Given the description of an element on the screen output the (x, y) to click on. 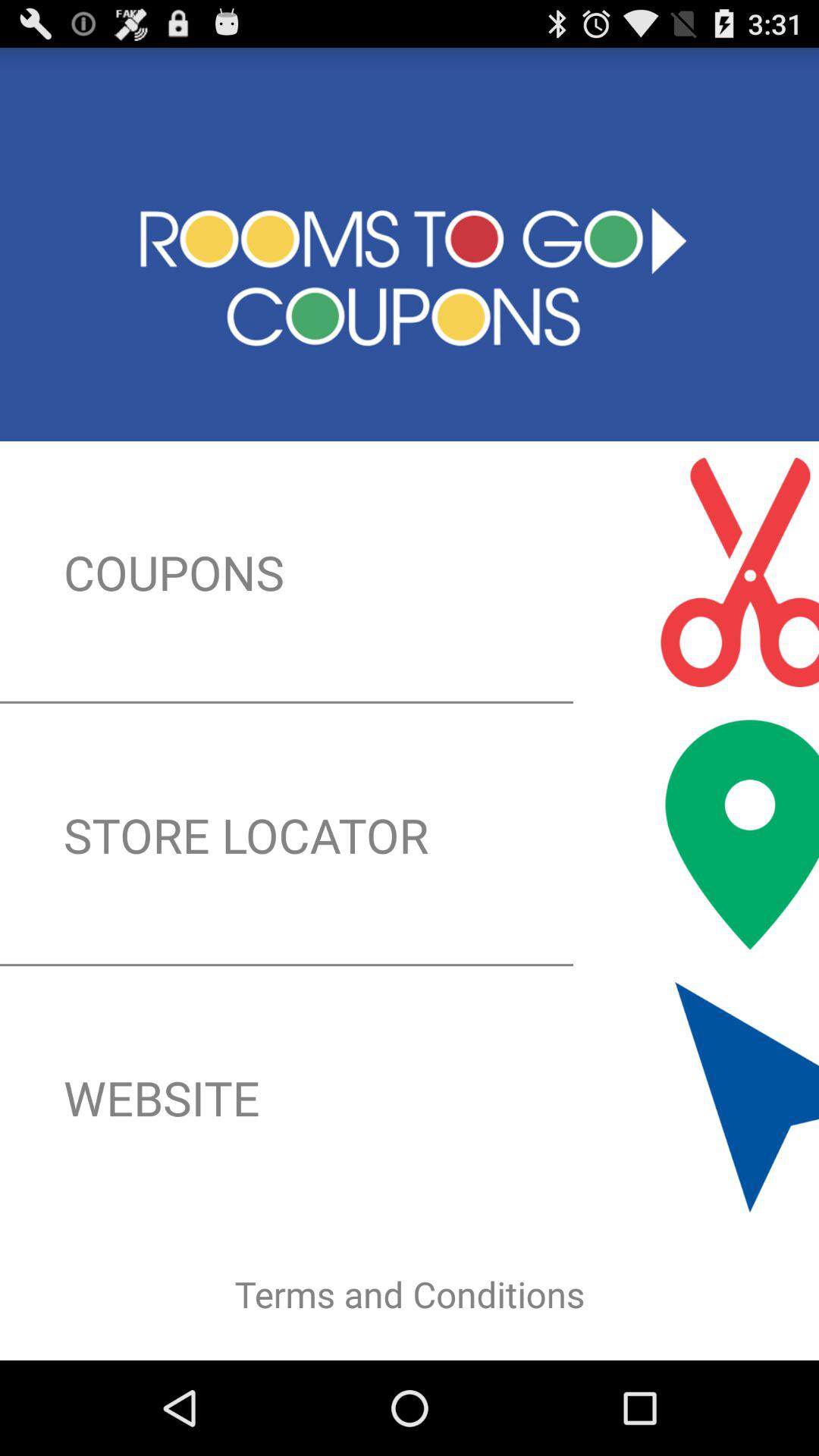
launch icon above website icon (409, 834)
